Given the description of an element on the screen output the (x, y) to click on. 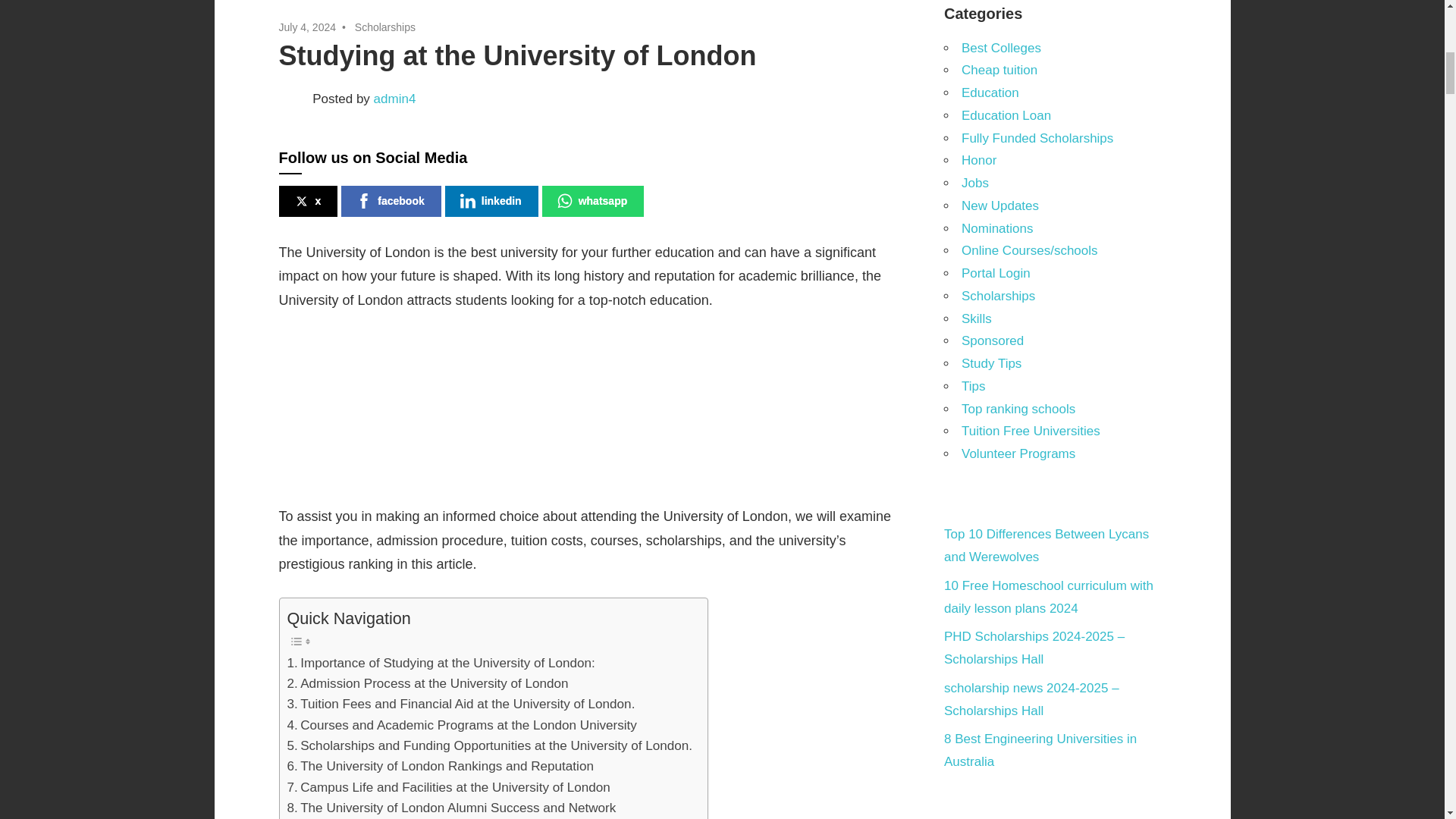
Admission Process at the University of London (426, 683)
Campus Life and Facilities at the University of London (448, 787)
July 4, 2024 (307, 27)
Campus Life and Facilities at the University of London (448, 787)
whatsapp (593, 201)
facebook (390, 201)
12:20 am (307, 27)
admin4 (395, 98)
The University of London Alumni Success and Network (450, 807)
Tuition Fees and Financial Aid at the University of London. (460, 703)
linkedin (491, 201)
The University of London Rankings and Reputation (439, 765)
Scholarships (384, 27)
